Given the description of an element on the screen output the (x, y) to click on. 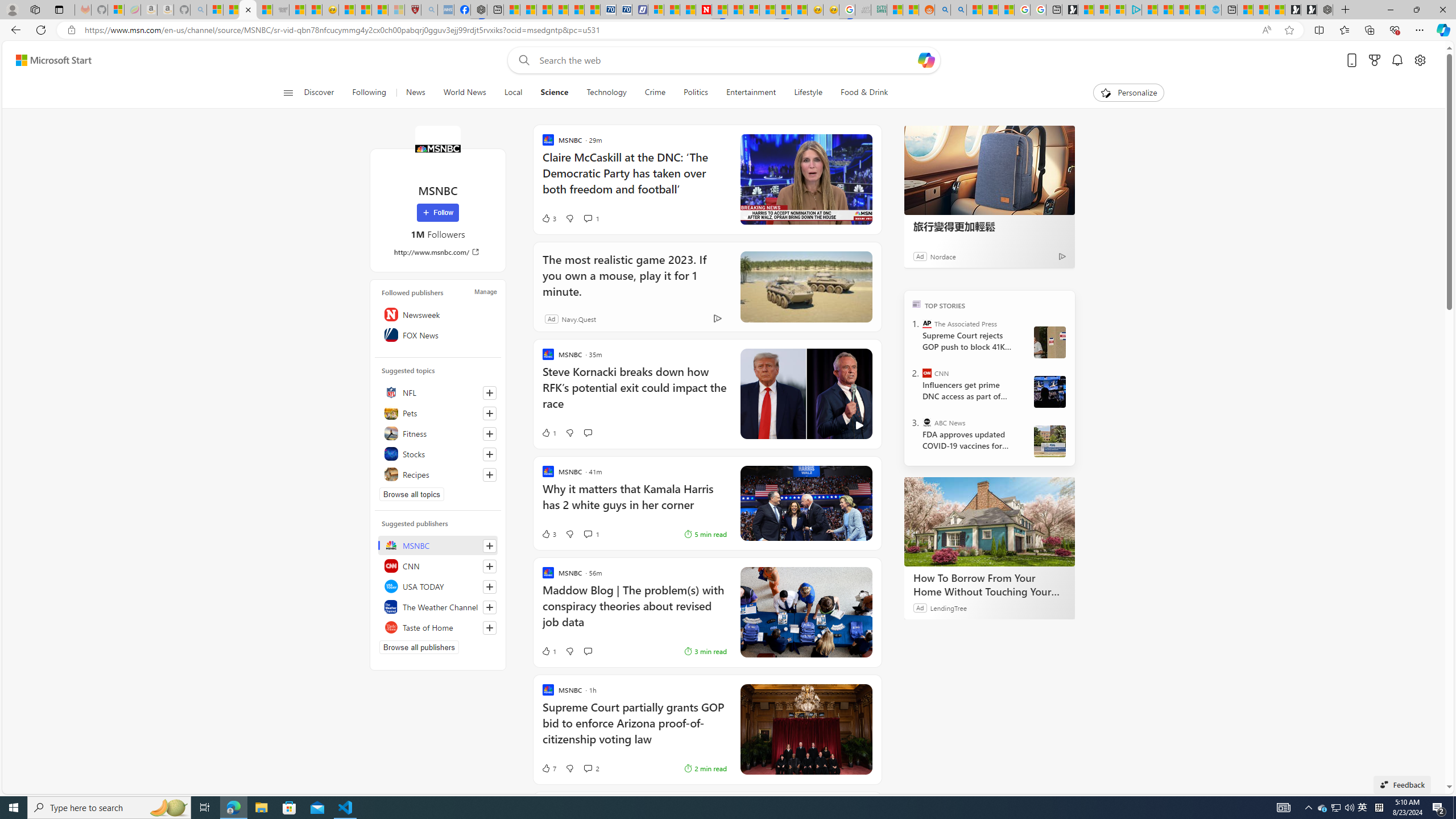
Robert H. Shmerling, MD - Harvard Health (413, 9)
View comments 1 Comment (587, 533)
View comments 2 Comment (587, 768)
Newsweek (437, 314)
The Weather Channel (437, 606)
Food & Drink (859, 92)
Recipes (437, 474)
NFL (437, 392)
Navy.Quest (578, 318)
